Given the description of an element on the screen output the (x, y) to click on. 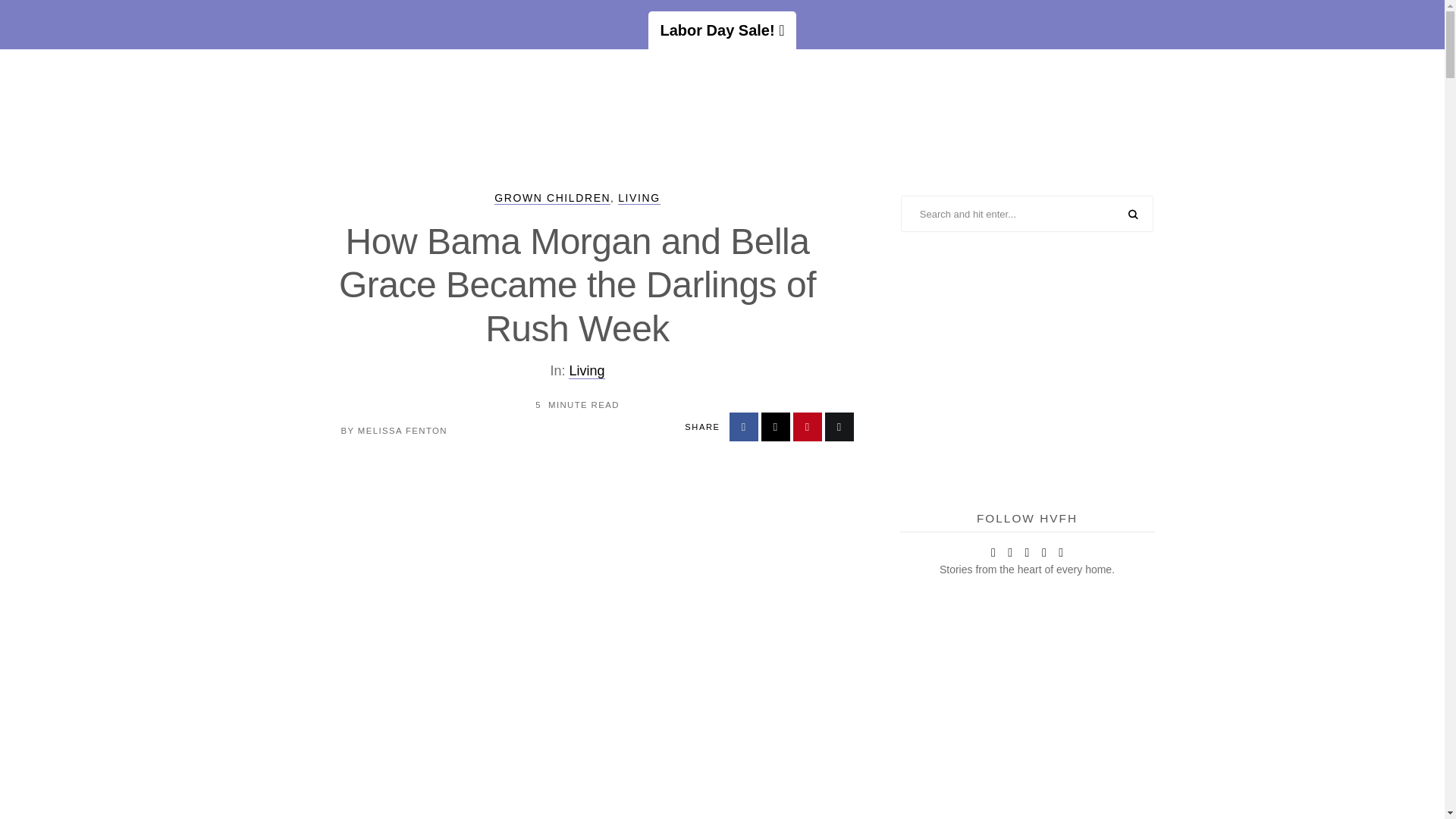
Share on Facebook (743, 426)
Share on Pinterest (807, 426)
Share on X (775, 426)
Share by Email (839, 426)
SEARCH (1133, 214)
